Given the description of an element on the screen output the (x, y) to click on. 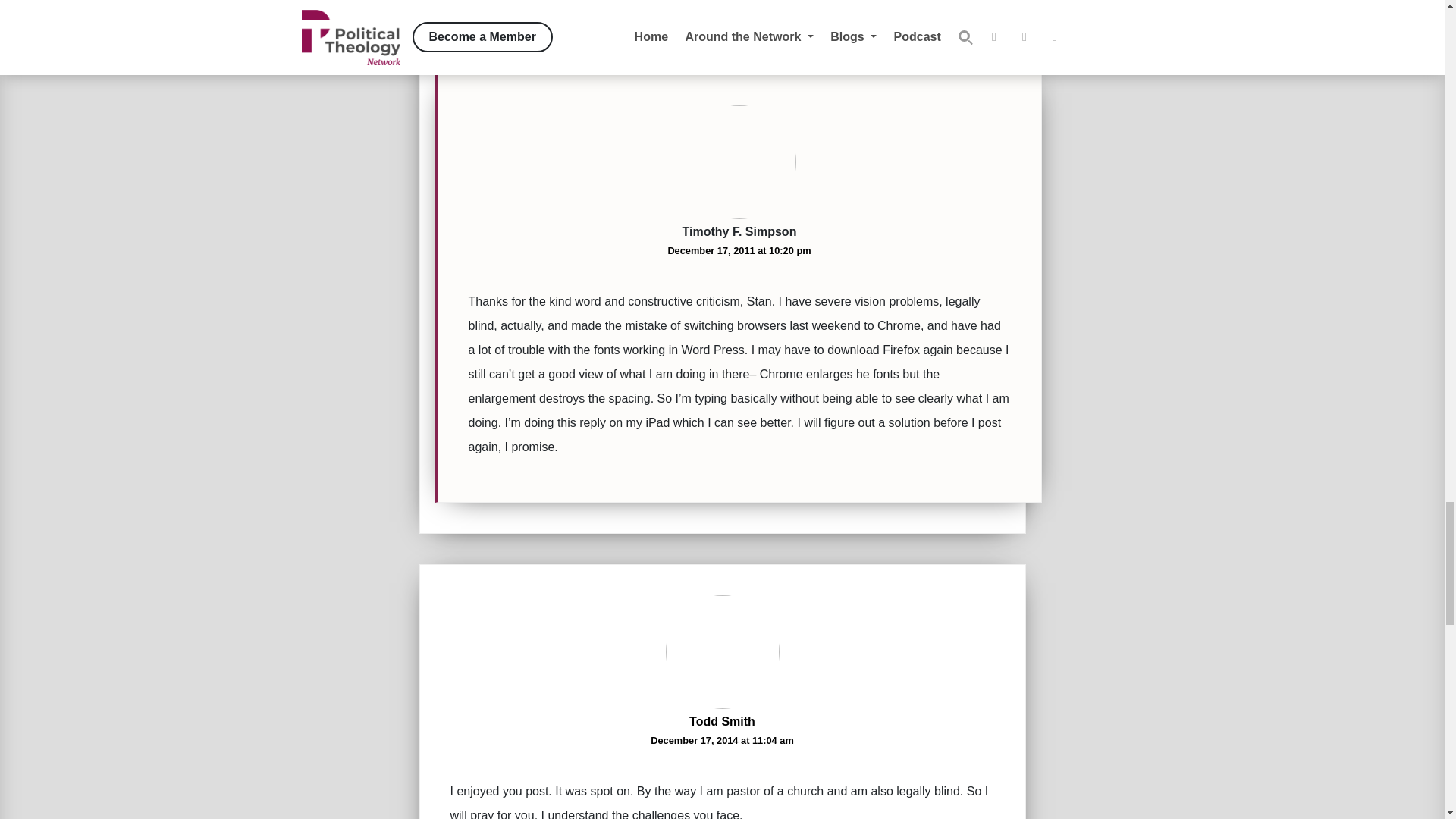
December 17, 2011 at 10:20 pm (738, 250)
Todd Smith (721, 721)
December 17, 2014 at 11:04 am (721, 740)
